Given the description of an element on the screen output the (x, y) to click on. 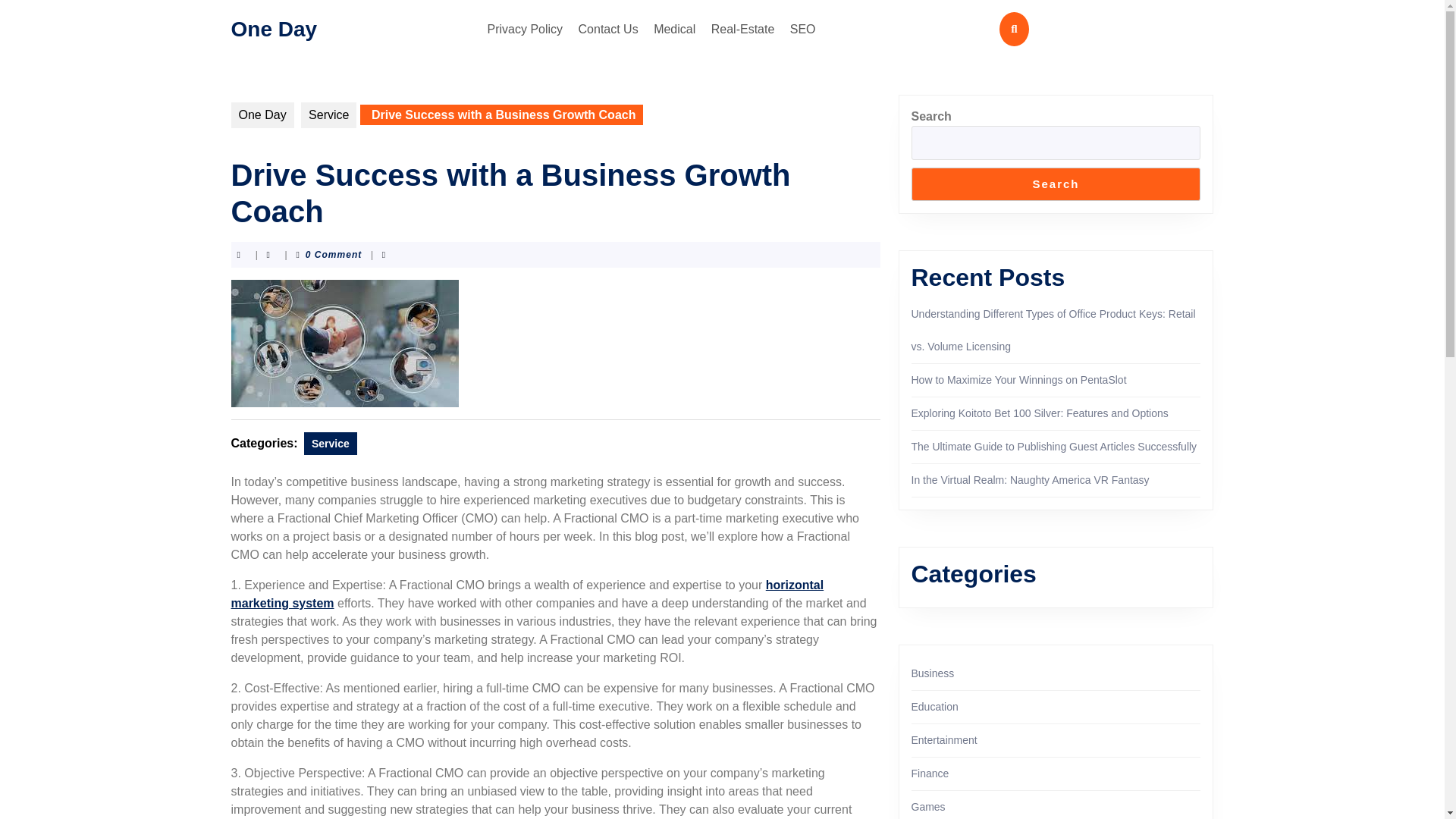
Business (933, 673)
Privacy Policy (524, 28)
Contact Us (608, 28)
Search (1056, 183)
horizontal marketing system (527, 593)
SEO (803, 28)
Medical (674, 28)
One Day (273, 28)
In the Virtual Realm: Naughty America VR Fantasy (1030, 480)
Exploring Koitoto Bet 100 Silver: Features and Options (1040, 413)
Service (330, 443)
Service (328, 114)
Real-Estate (742, 28)
How to Maximize Your Winnings on PentaSlot (1018, 379)
